Given the description of an element on the screen output the (x, y) to click on. 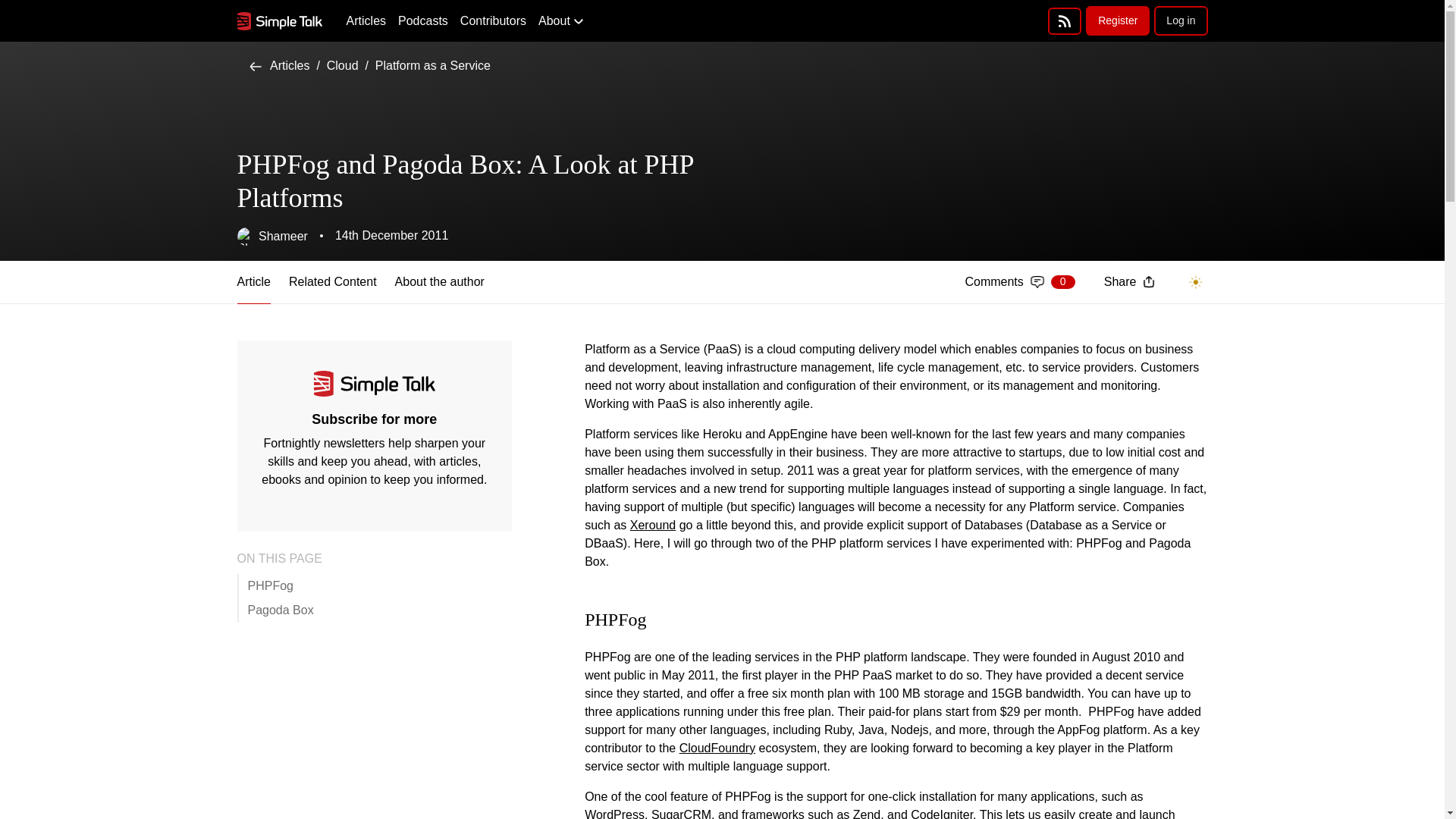
Log in (1180, 20)
Articles (278, 65)
Register (1118, 20)
Share (1128, 281)
Simple Talk RSS feed (1064, 21)
Contributors (492, 21)
Related Content (332, 282)
About the author (1018, 281)
Podcasts (439, 282)
Cloud (422, 21)
Articles (342, 65)
Platform as a Service (365, 21)
Shameer (432, 65)
About (271, 235)
